Given the description of an element on the screen output the (x, y) to click on. 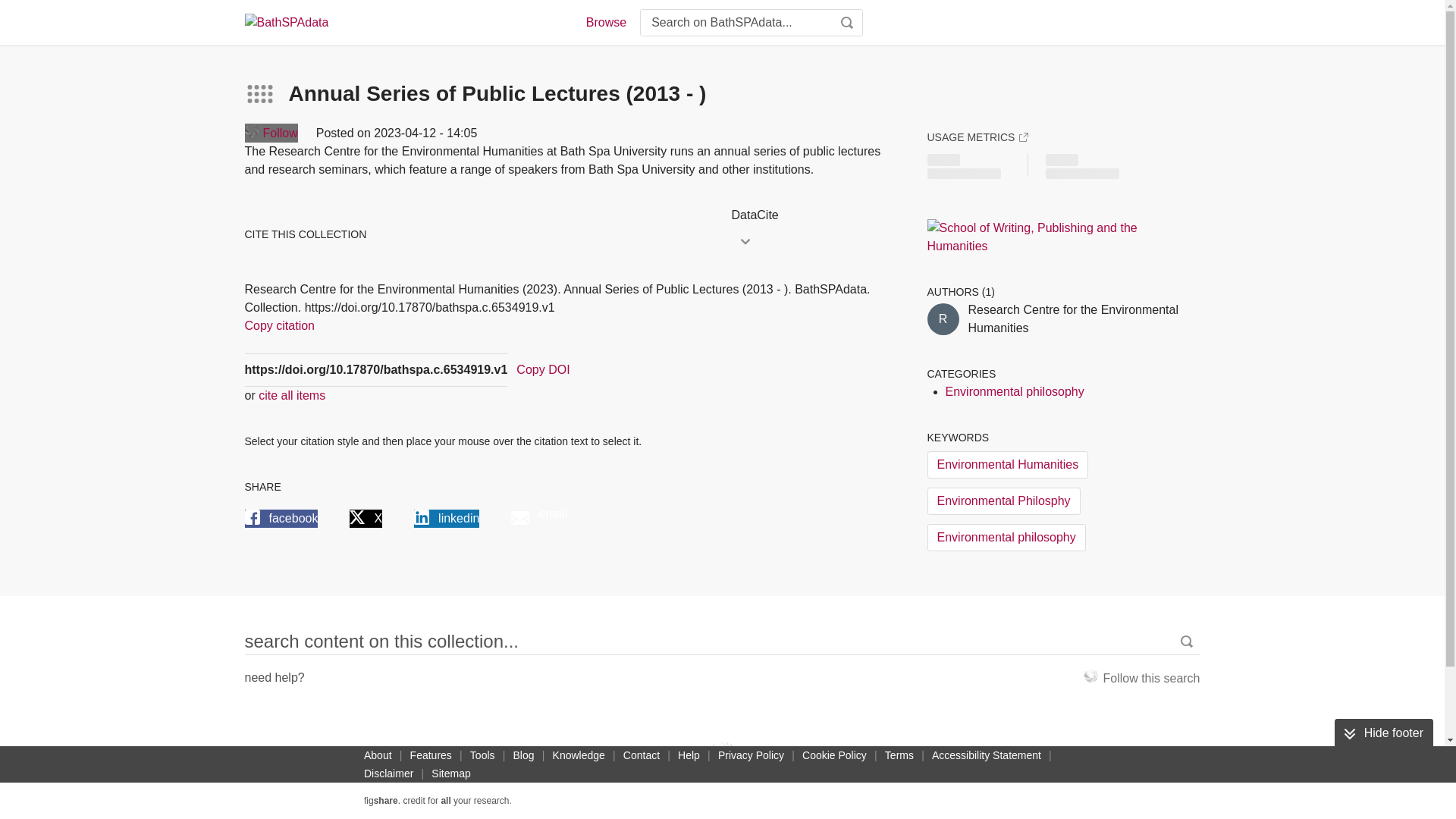
School of Writing, Publishing and the Humanities (1040, 237)
Environmental philosophy (1013, 391)
USAGE METRICS (976, 136)
DataCite (812, 215)
Environmental Humanities (1006, 464)
linkedin (446, 518)
X (365, 518)
Browse (605, 22)
facebook (280, 518)
Copy DOI (542, 370)
cite all items (291, 395)
email (539, 518)
Research Centre for the Environmental Humanities (942, 318)
Copy citation (279, 325)
Research Centre for the Environmental Humanities (1083, 319)
